Given the description of an element on the screen output the (x, y) to click on. 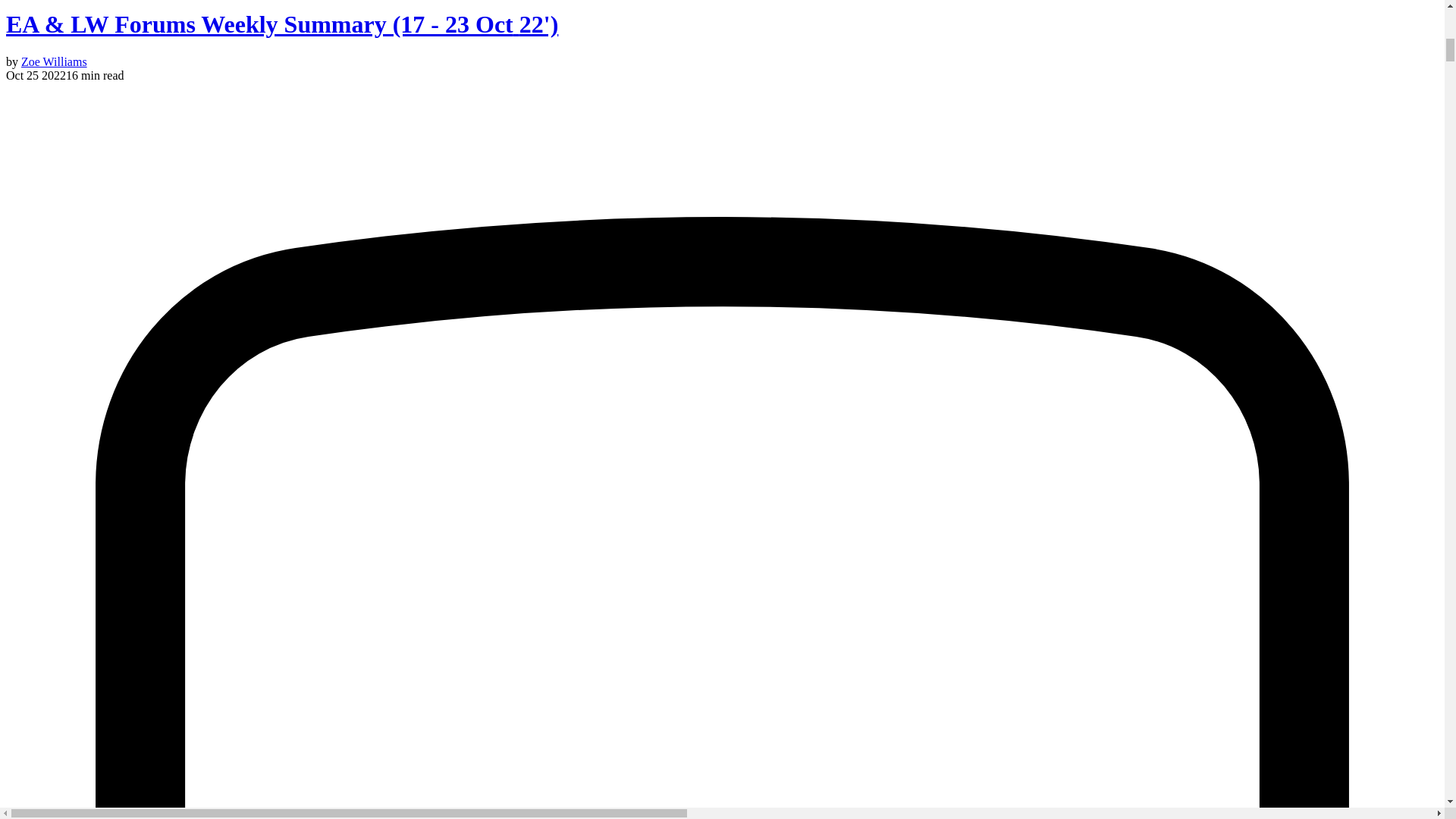
Zoe Williams (54, 61)
